Given the description of an element on the screen output the (x, y) to click on. 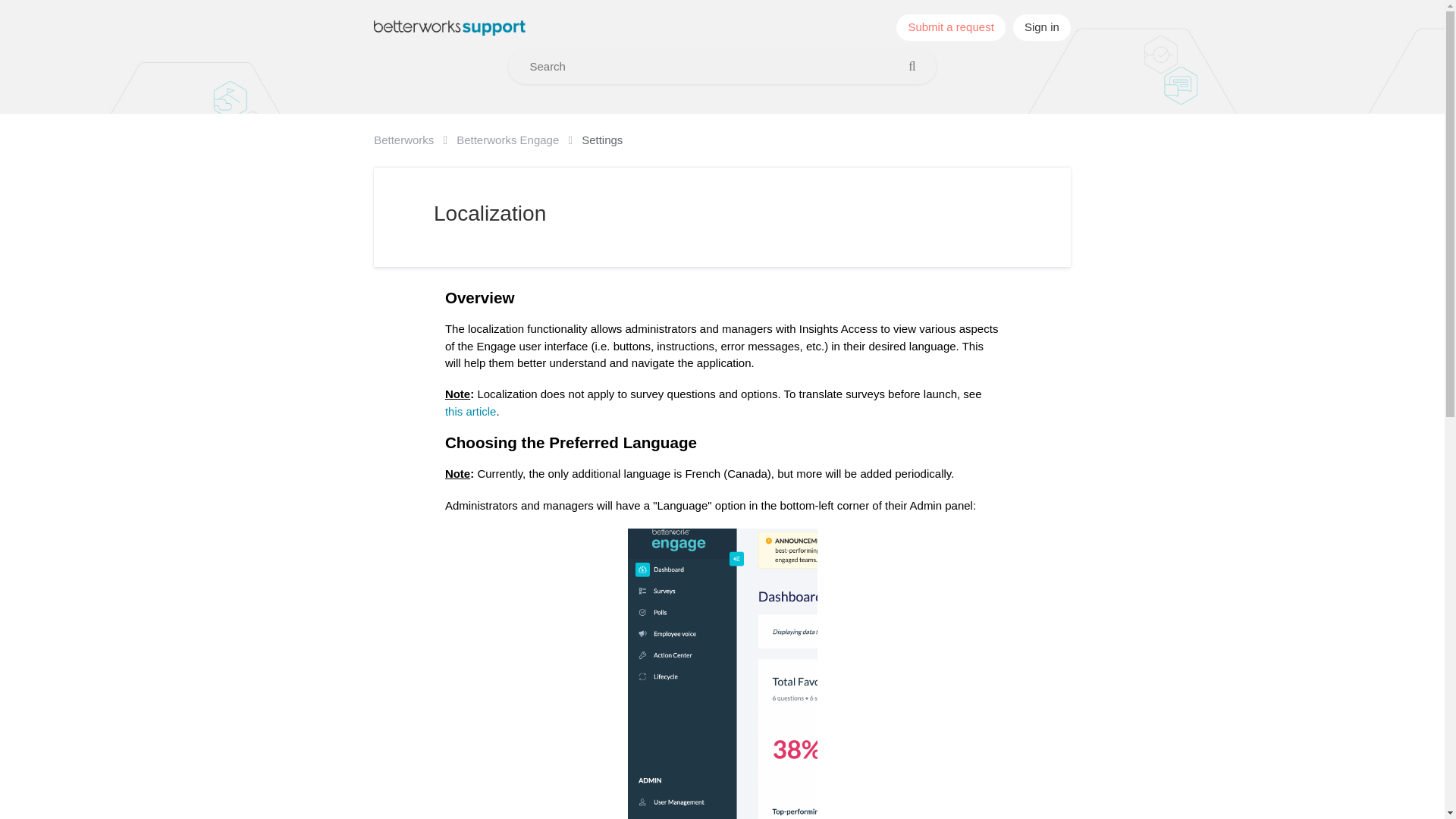
Search (918, 66)
Submit a request (951, 27)
Betterworks Engage (518, 140)
Settings (601, 140)
Sign in (1041, 27)
Settings (601, 139)
this article (470, 410)
Betterworks Engage (518, 139)
Opens a dialog (1041, 27)
Home (449, 27)
Betterworks (415, 140)
Search (918, 66)
Betterworks (415, 139)
